Given the description of an element on the screen output the (x, y) to click on. 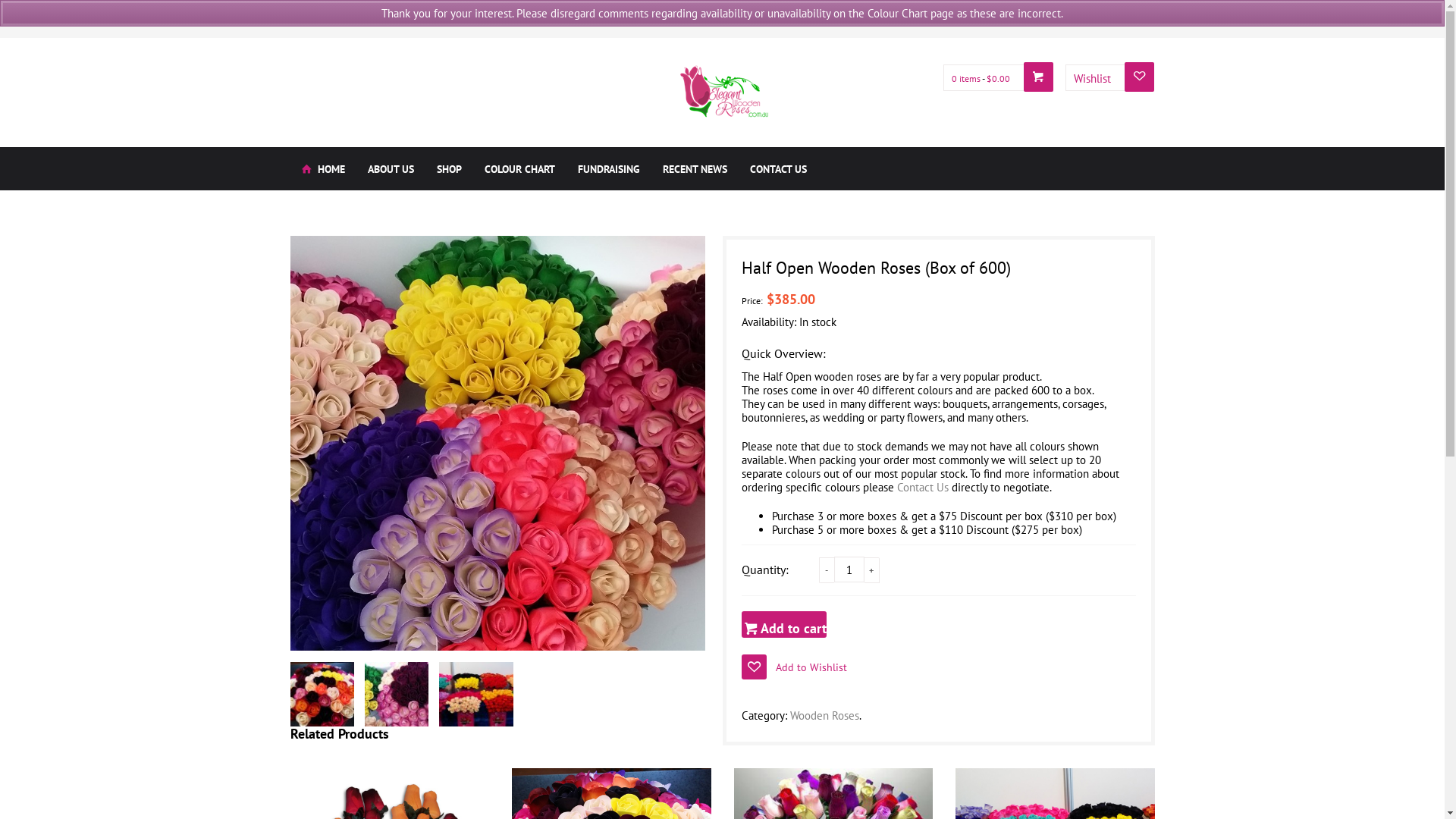
RECENT NEWS Element type: text (693, 168)
ABOUT US Element type: text (390, 168)
SHOP Element type: text (448, 168)
sml-halfopen-bud-wholesale-wooden-roses Element type: hover (496, 442)
COLOUR CHART Element type: text (519, 168)
Colour Chart Element type: text (954, 18)
Add to cart Element type: text (783, 624)
Shop Element type: text (1014, 18)
Add to Wishlist Element type: text (794, 666)
Create Account Element type: text (1125, 18)
Qty Element type: hover (849, 569)
HOME Element type: text (322, 168)
sml-half-open-wooden-rose-wholesale Element type: hover (475, 694)
FUNDRAISING Element type: text (607, 168)
Contact Us Element type: text (921, 487)
close-half-open-buds-wholsesale Element type: hover (401, 694)
wooden-roses-half-open-bud-wholesale Element type: hover (326, 694)
Wooden Roses Element type: text (824, 715)
CONTACT US Element type: text (778, 168)
Sign In Element type: text (1063, 18)
